Given the description of an element on the screen output the (x, y) to click on. 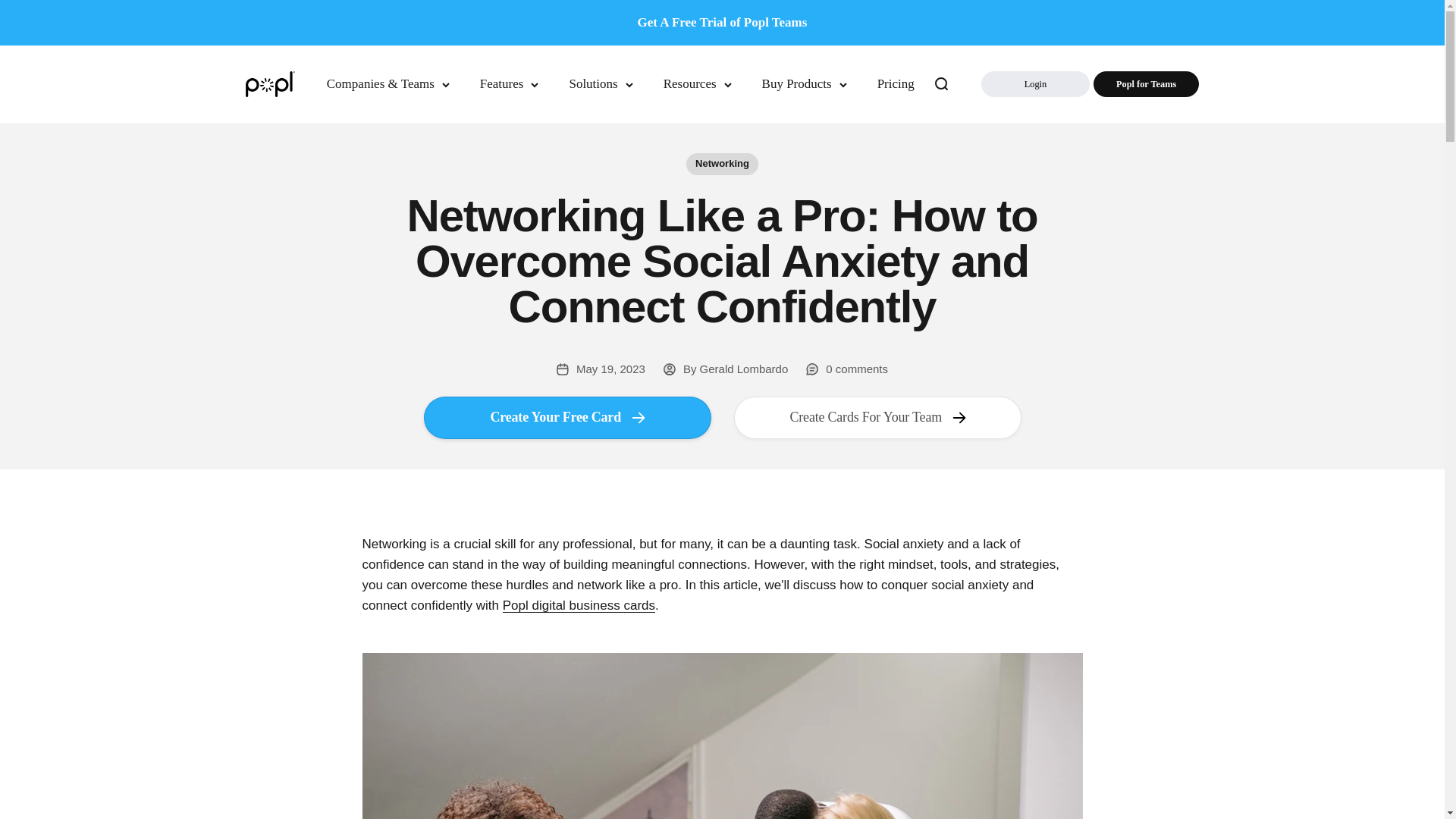
Get A Free Trial of Popl Teams (722, 22)
Pricing (895, 83)
Popl Teams (1145, 84)
